Given the description of an element on the screen output the (x, y) to click on. 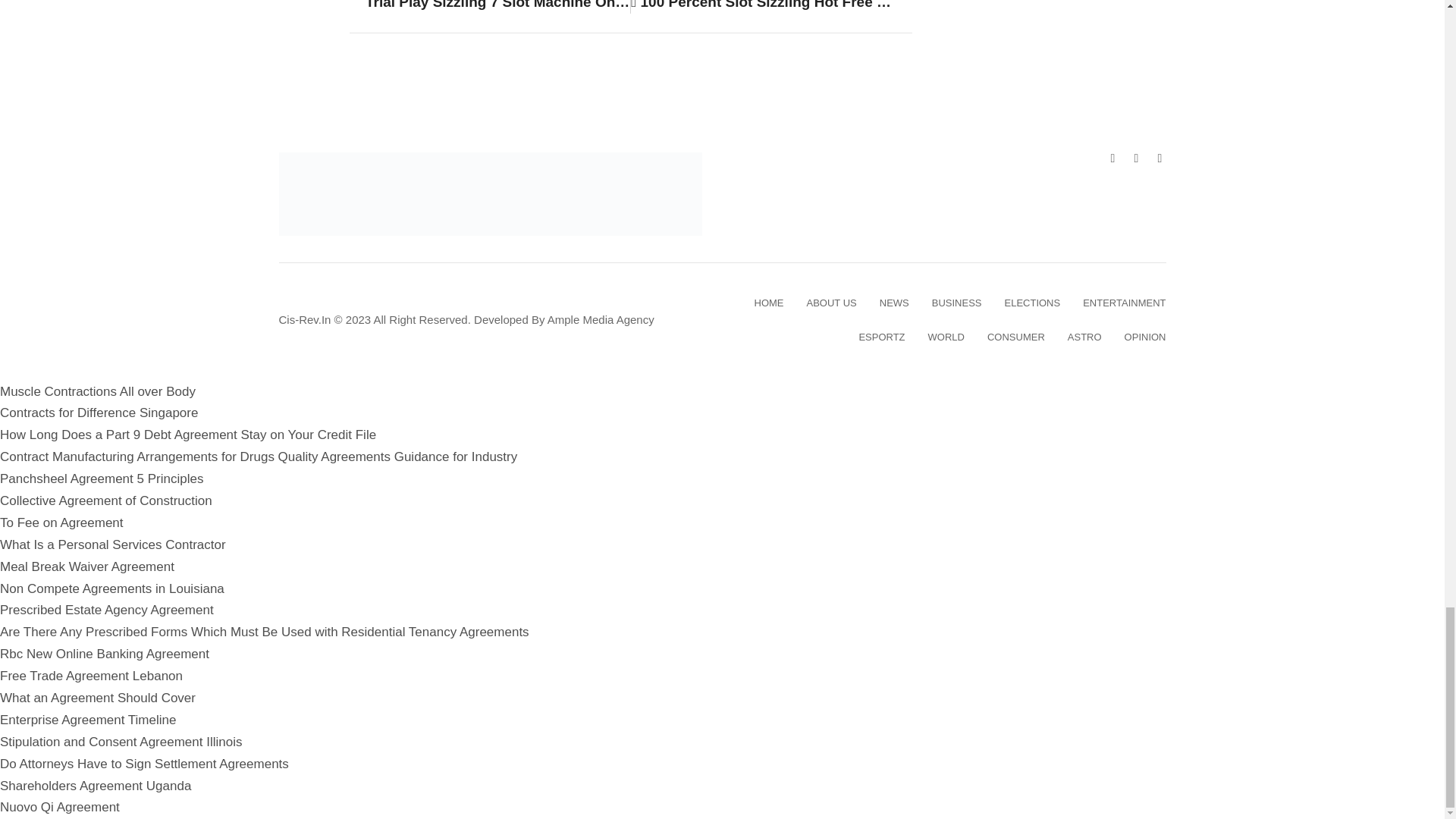
To Fee on Agreement (61, 522)
Non Compete Agreements in Louisiana (112, 588)
Meal Break Waiver Agreement (87, 566)
Prescribed Estate Agency Agreement (107, 609)
Panchsheel Agreement 5 Principles (101, 478)
Contracts for Difference Singapore (99, 412)
Muscle Contractions All over Body (97, 391)
